Given the description of an element on the screen output the (x, y) to click on. 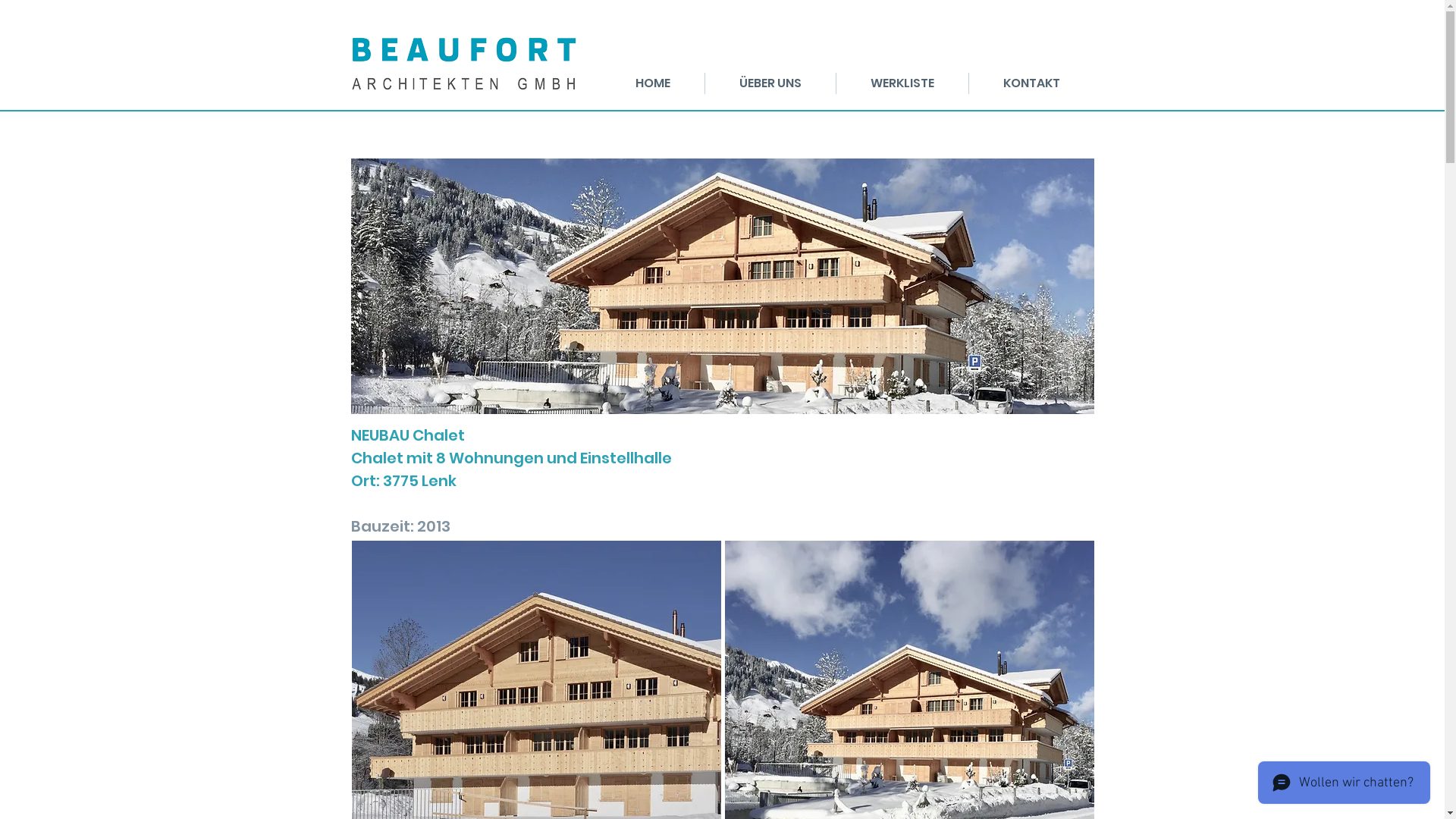
HOME Element type: text (651, 83)
WERKLISTE Element type: text (901, 83)
0000_LOGO%20Beaufort%20Architekten%20Gmb Element type: hover (465, 62)
KONTAKT Element type: text (1031, 83)
